Given the description of an element on the screen output the (x, y) to click on. 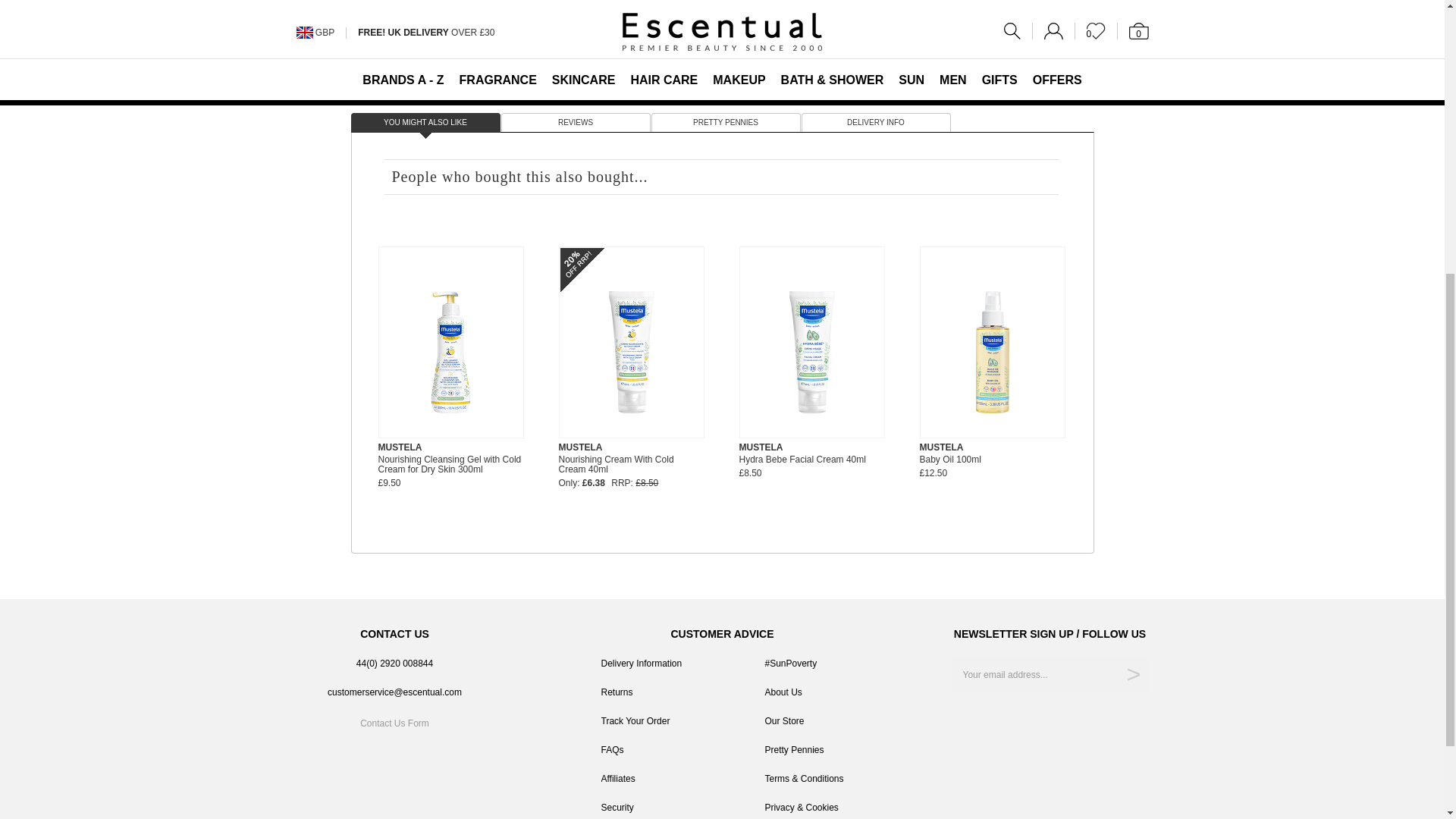
Add to Shopping Bag (1019, 47)
Mustela Nourishing Cream With Cold Cream 40ml (631, 352)
